Given the description of an element on the screen output the (x, y) to click on. 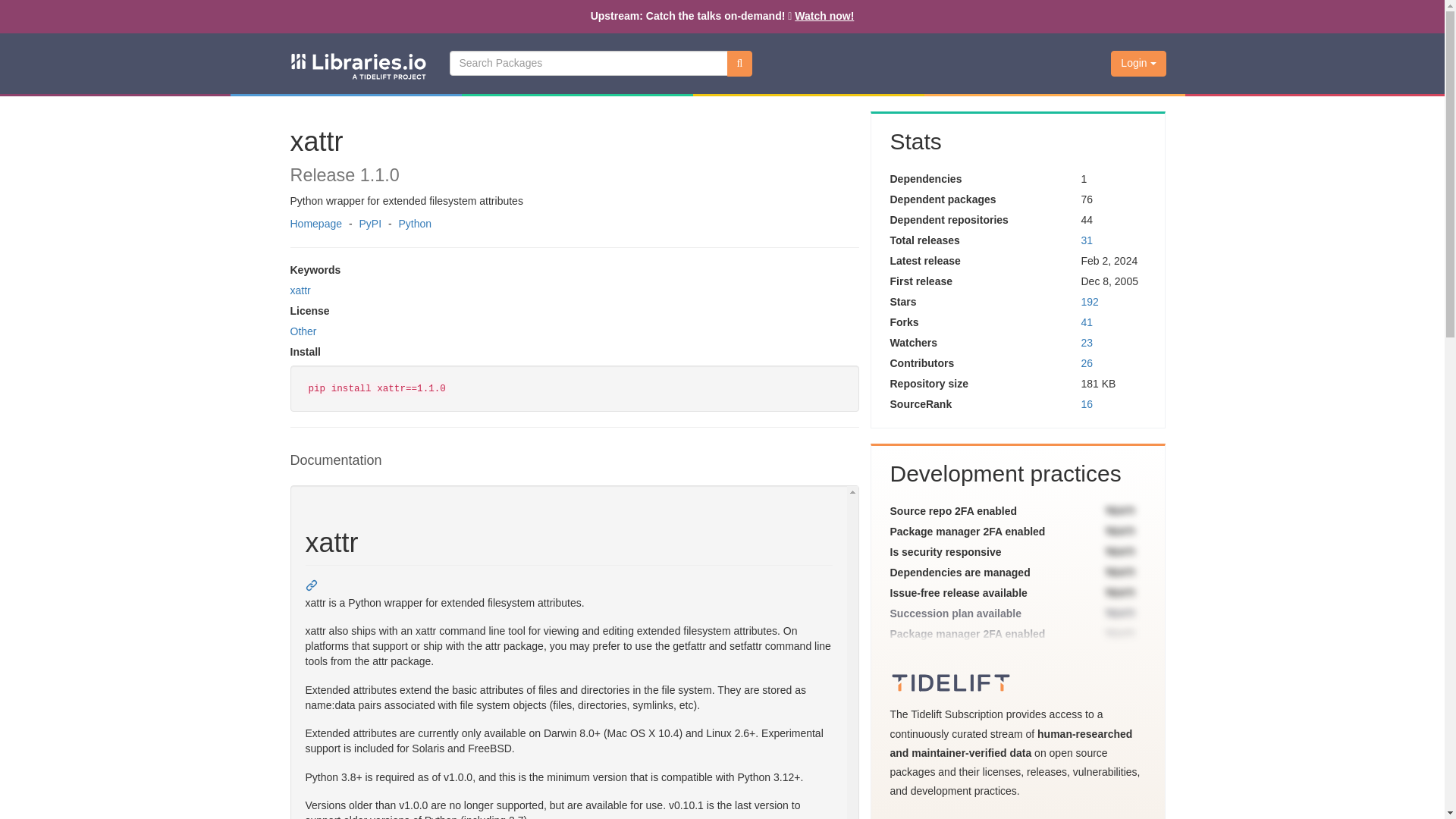
Other (302, 331)
Dec  8, 2005 (1109, 281)
Feb  2, 2024 (1108, 260)
16 (1086, 404)
Python (413, 223)
PyPI (369, 223)
Watch now! (823, 15)
192 (1088, 301)
Homepage (315, 223)
31 (1086, 240)
23 (1086, 342)
26 (1086, 363)
xattr (299, 290)
Login (1138, 63)
41 (1086, 322)
